Given the description of an element on the screen output the (x, y) to click on. 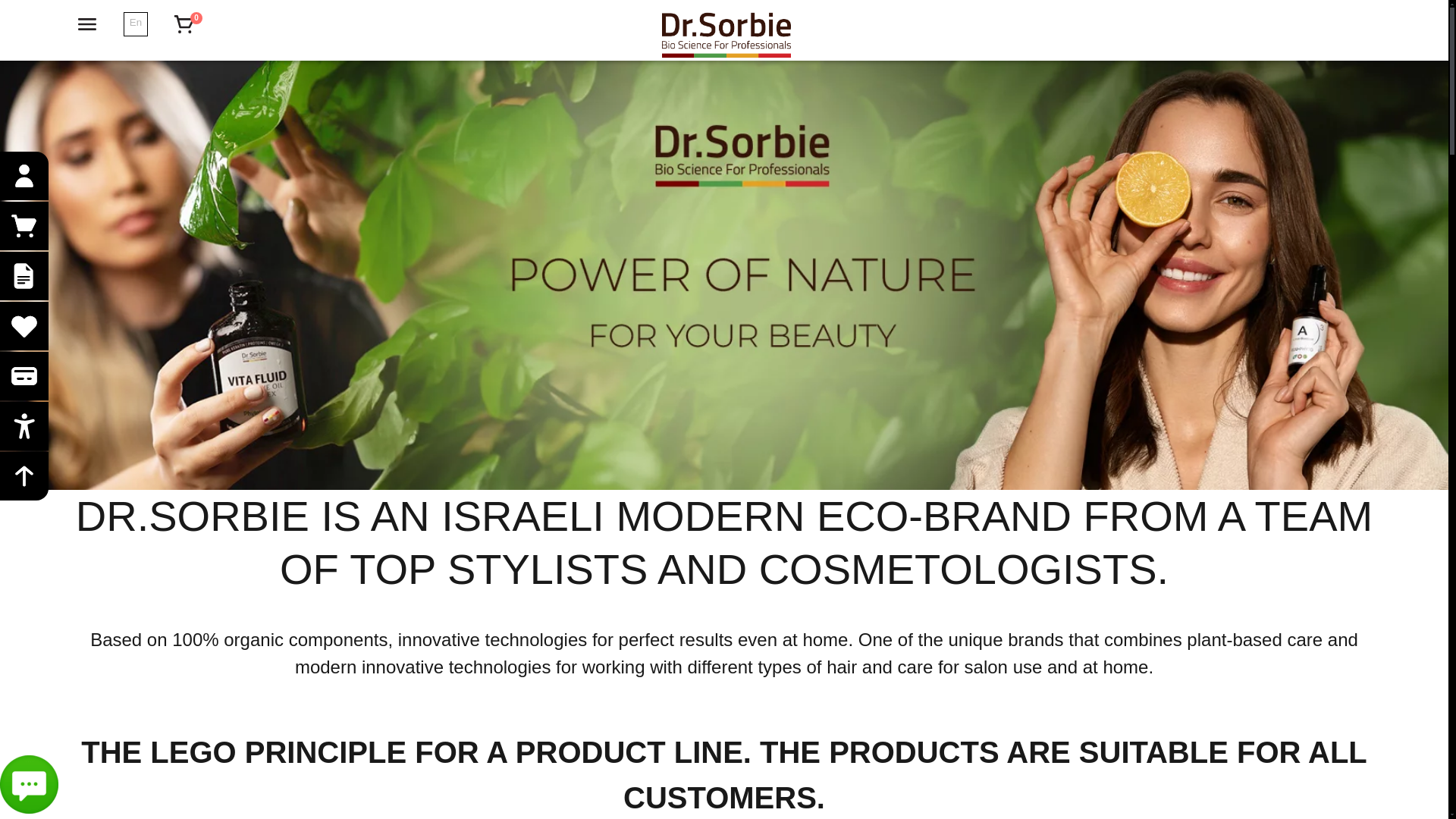
0 (183, 24)
En (135, 21)
